Given the description of an element on the screen output the (x, y) to click on. 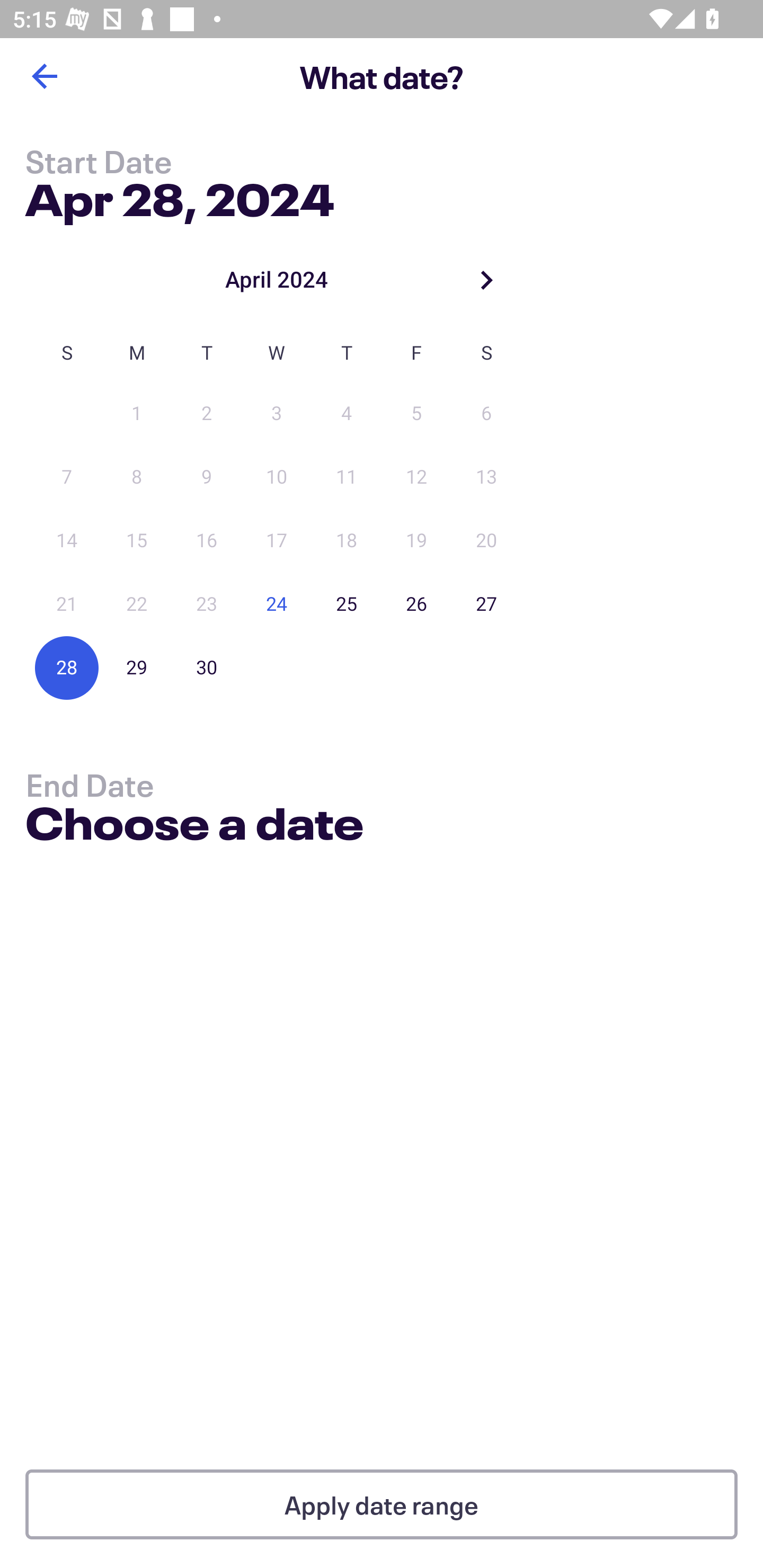
Back button (44, 75)
Apr 28, 2024 (179, 195)
Next month (486, 279)
1 01 April 2024 (136, 413)
2 02 April 2024 (206, 413)
3 03 April 2024 (276, 413)
4 04 April 2024 (346, 413)
5 05 April 2024 (416, 413)
6 06 April 2024 (486, 413)
7 07 April 2024 (66, 477)
8 08 April 2024 (136, 477)
9 09 April 2024 (206, 477)
10 10 April 2024 (276, 477)
11 11 April 2024 (346, 477)
12 12 April 2024 (416, 477)
13 13 April 2024 (486, 477)
14 14 April 2024 (66, 540)
15 15 April 2024 (136, 540)
16 16 April 2024 (206, 540)
17 17 April 2024 (276, 540)
18 18 April 2024 (346, 540)
19 19 April 2024 (416, 540)
20 20 April 2024 (486, 540)
21 21 April 2024 (66, 604)
22 22 April 2024 (136, 604)
23 23 April 2024 (206, 604)
24 24 April 2024 (276, 604)
25 25 April 2024 (346, 604)
26 26 April 2024 (416, 604)
27 27 April 2024 (486, 604)
28 28 April 2024 (66, 667)
29 29 April 2024 (136, 667)
30 30 April 2024 (206, 667)
Choose a date (194, 826)
Apply date range (381, 1504)
